Given the description of an element on the screen output the (x, y) to click on. 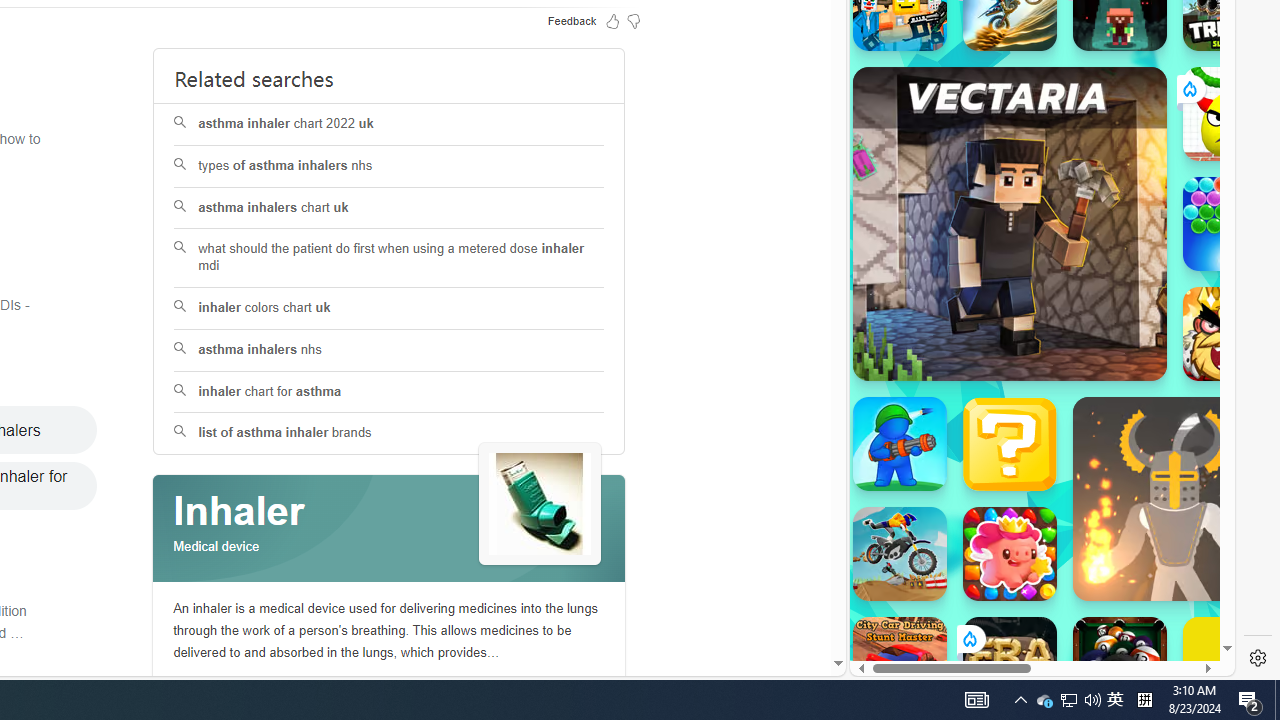
inhaler colors chart uk (388, 308)
asthma inhaler chart 2022 uk (388, 123)
See more images of Inhaler (539, 503)
Like a King Like a King (1229, 333)
poki.com (1092, 338)
Mystery Tile (1009, 443)
Class: rCs5cyEiqiTpYvt_VBCR (968, 638)
Hills of Steel Hills of Steel poki.com (943, 245)
asthma inhalers chart uk (388, 207)
Click to scroll right (1196, 247)
asthma inhalers chart uk (389, 208)
Vectaria.io Vectaria.io (1009, 223)
